Given the description of an element on the screen output the (x, y) to click on. 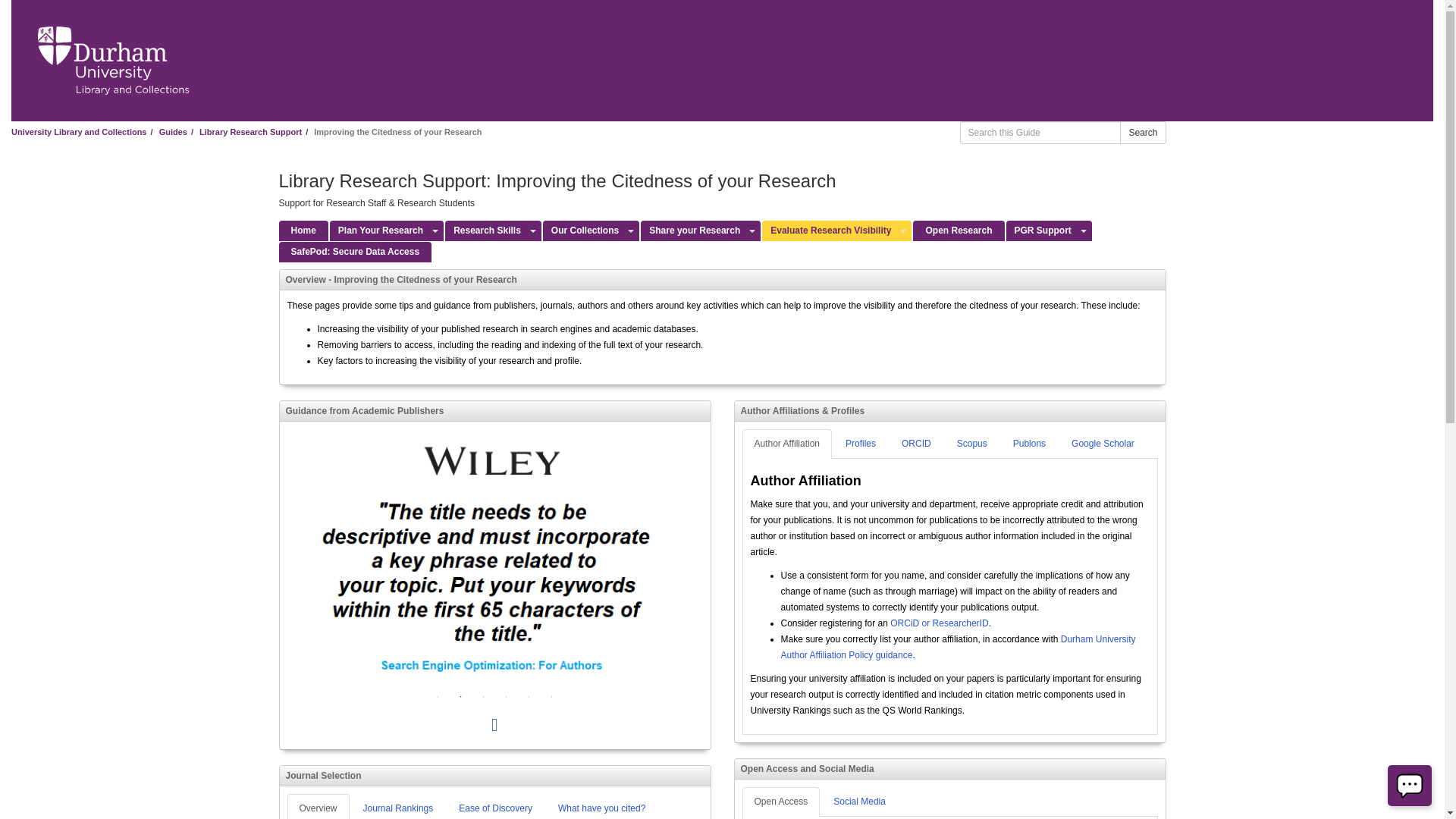
Library Home (113, 60)
Search (1142, 132)
Share your Research (692, 230)
University Library and Collections (79, 131)
Plan Your Research (379, 230)
Our Collections (583, 230)
Research Skills (485, 230)
Library Research Support (250, 131)
Home (304, 230)
Guides (172, 131)
